Given the description of an element on the screen output the (x, y) to click on. 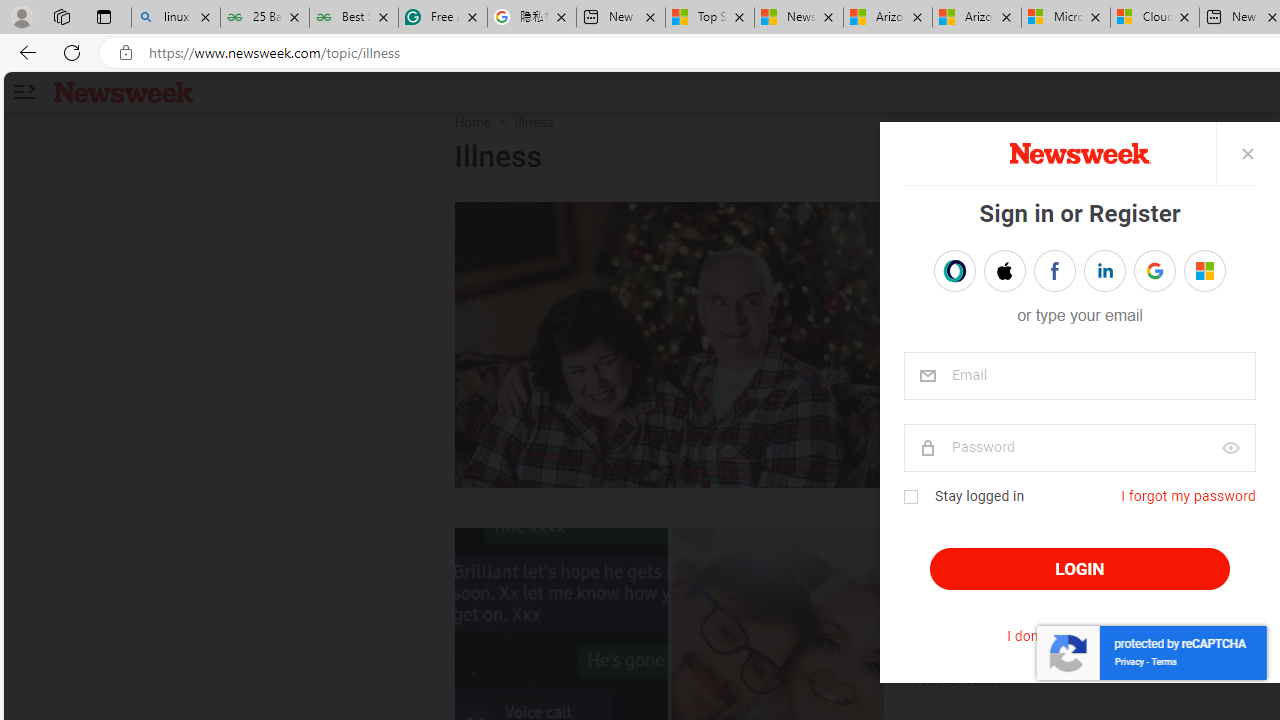
Sign in with LINKEDIN (1104, 270)
linux basic - Search (175, 17)
Sign in with FACEBOOK (1054, 270)
password (1078, 448)
Terms (1163, 661)
Sign in with APPLE (1004, 270)
I forgot my password (1187, 496)
